Given the description of an element on the screen output the (x, y) to click on. 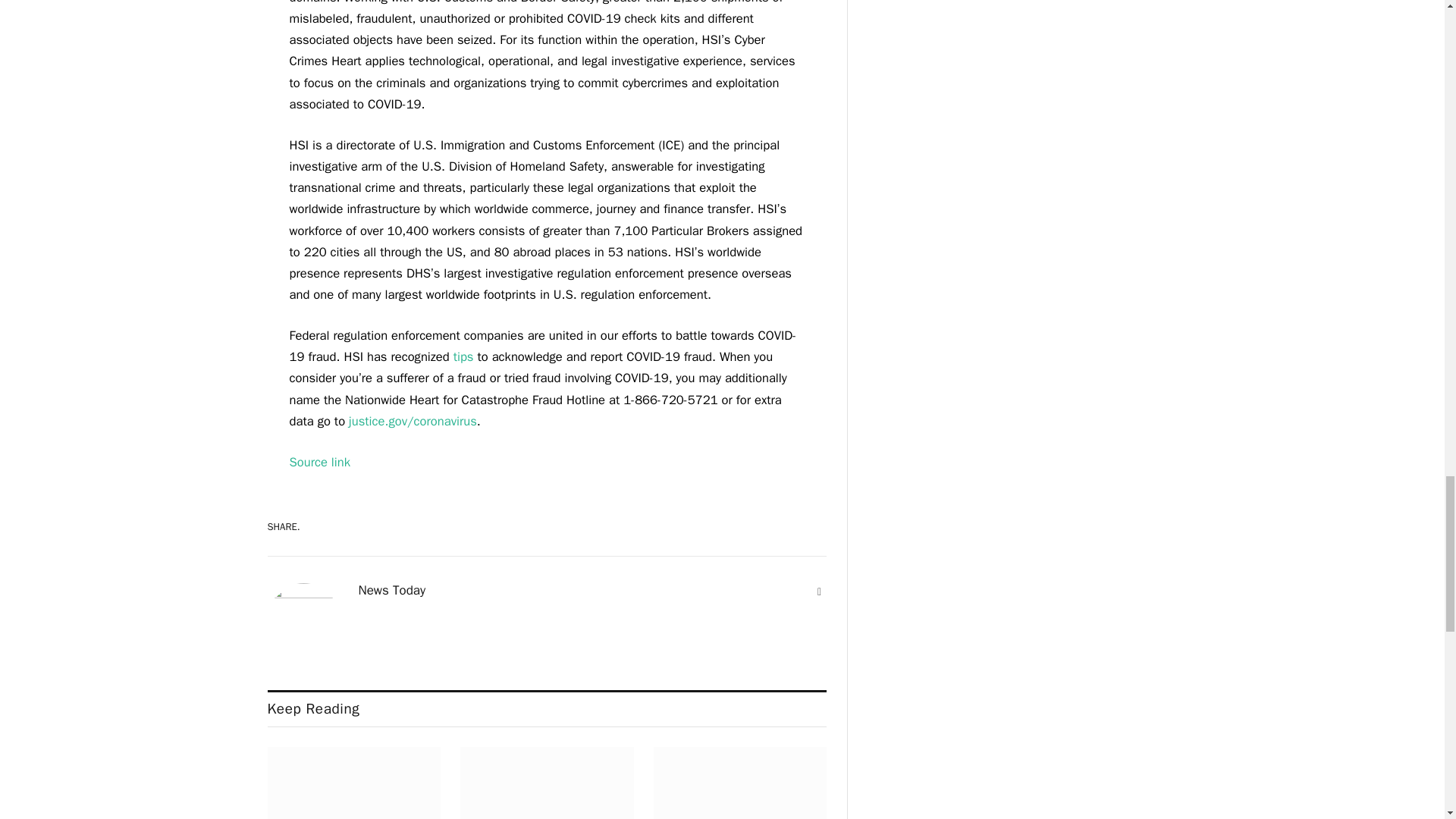
Share on Facebook (693, 526)
Share on Twitter (746, 526)
Share on LinkedIn (800, 526)
